Given the description of an element on the screen output the (x, y) to click on. 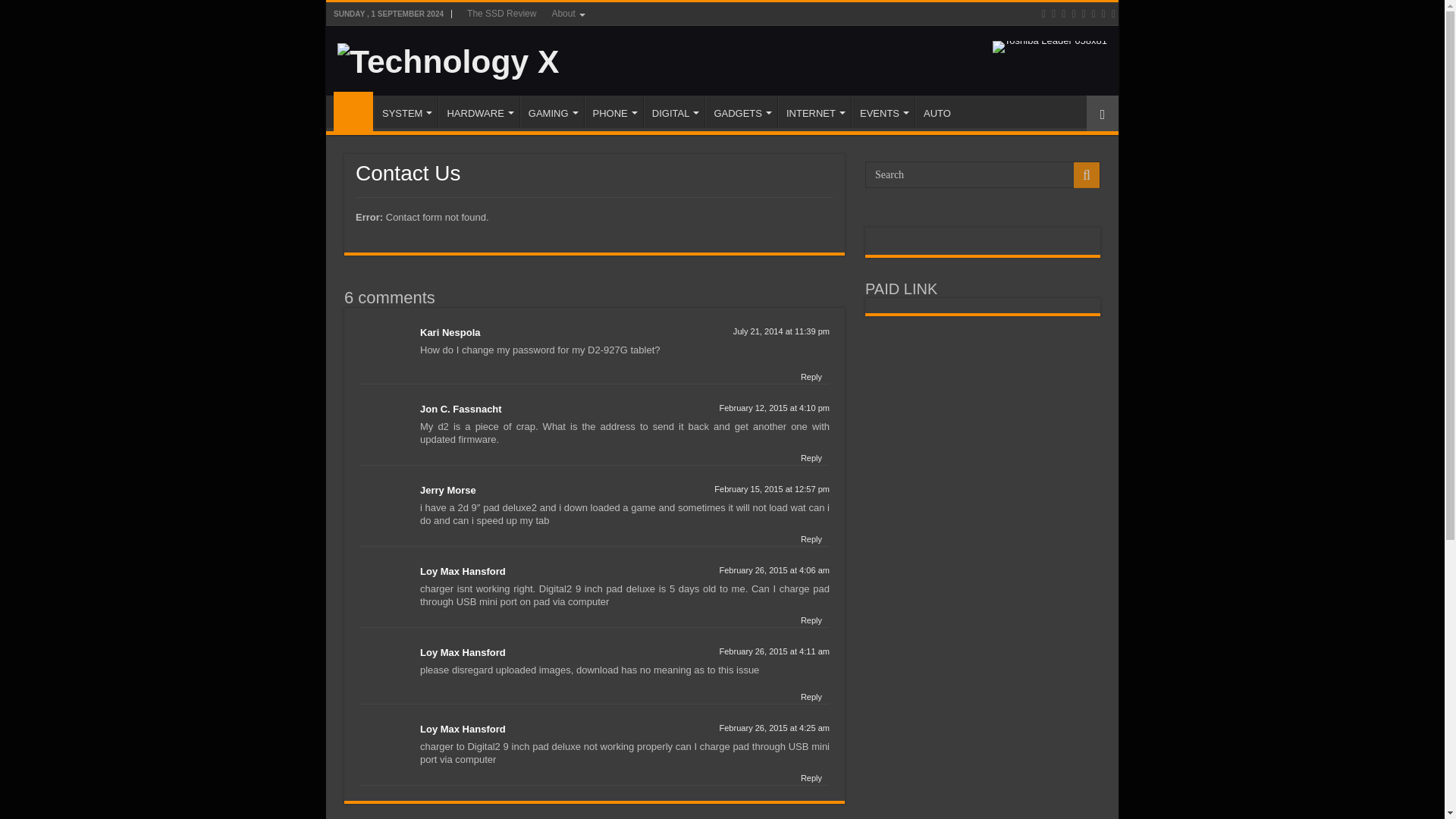
Search (982, 174)
About (566, 13)
SYSTEM (406, 111)
The SSD Review (501, 13)
Home (352, 111)
